Given the description of an element on the screen output the (x, y) to click on. 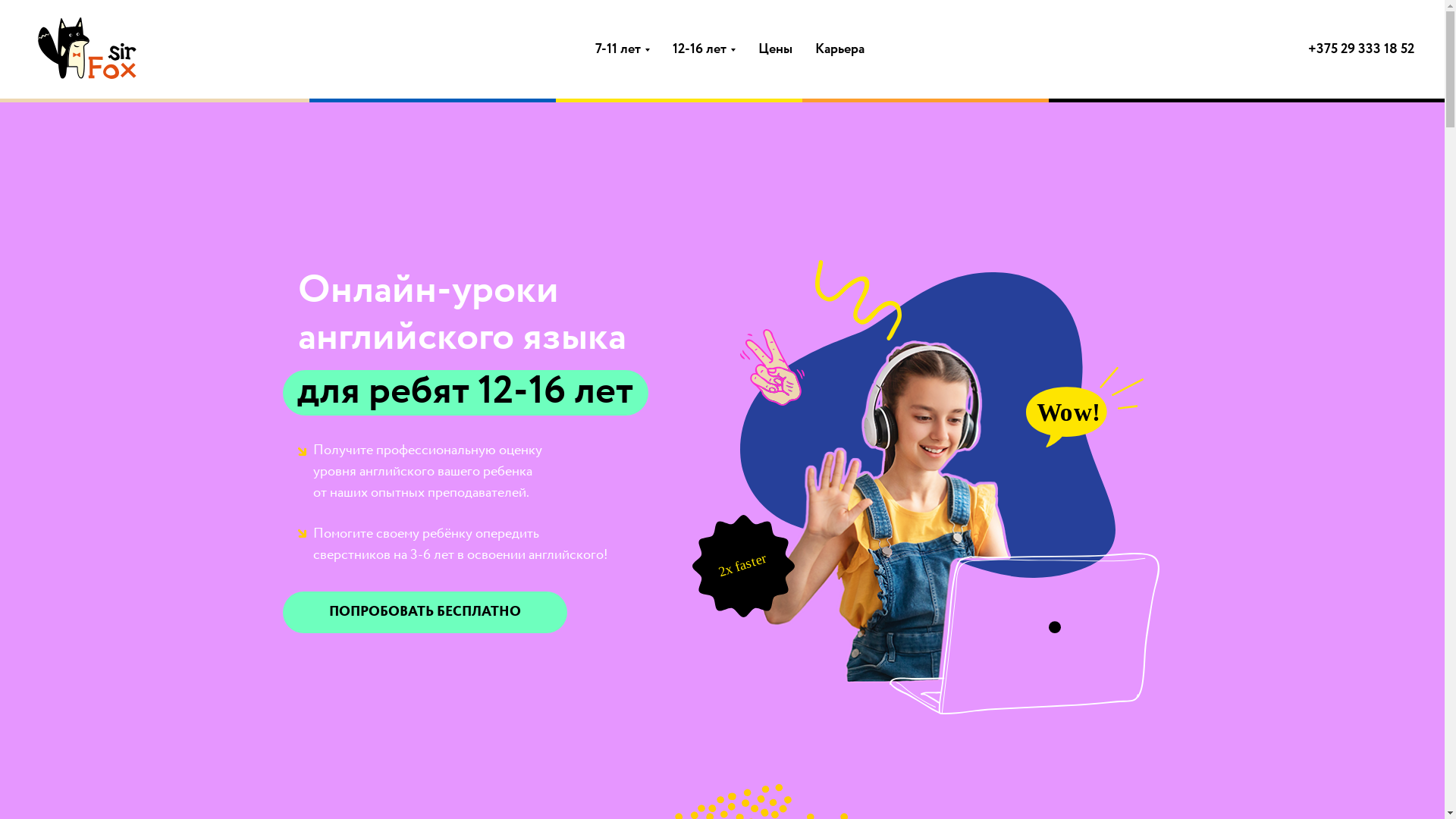
+375 29 333 18 52 Element type: text (1361, 49)
